Given the description of an element on the screen output the (x, y) to click on. 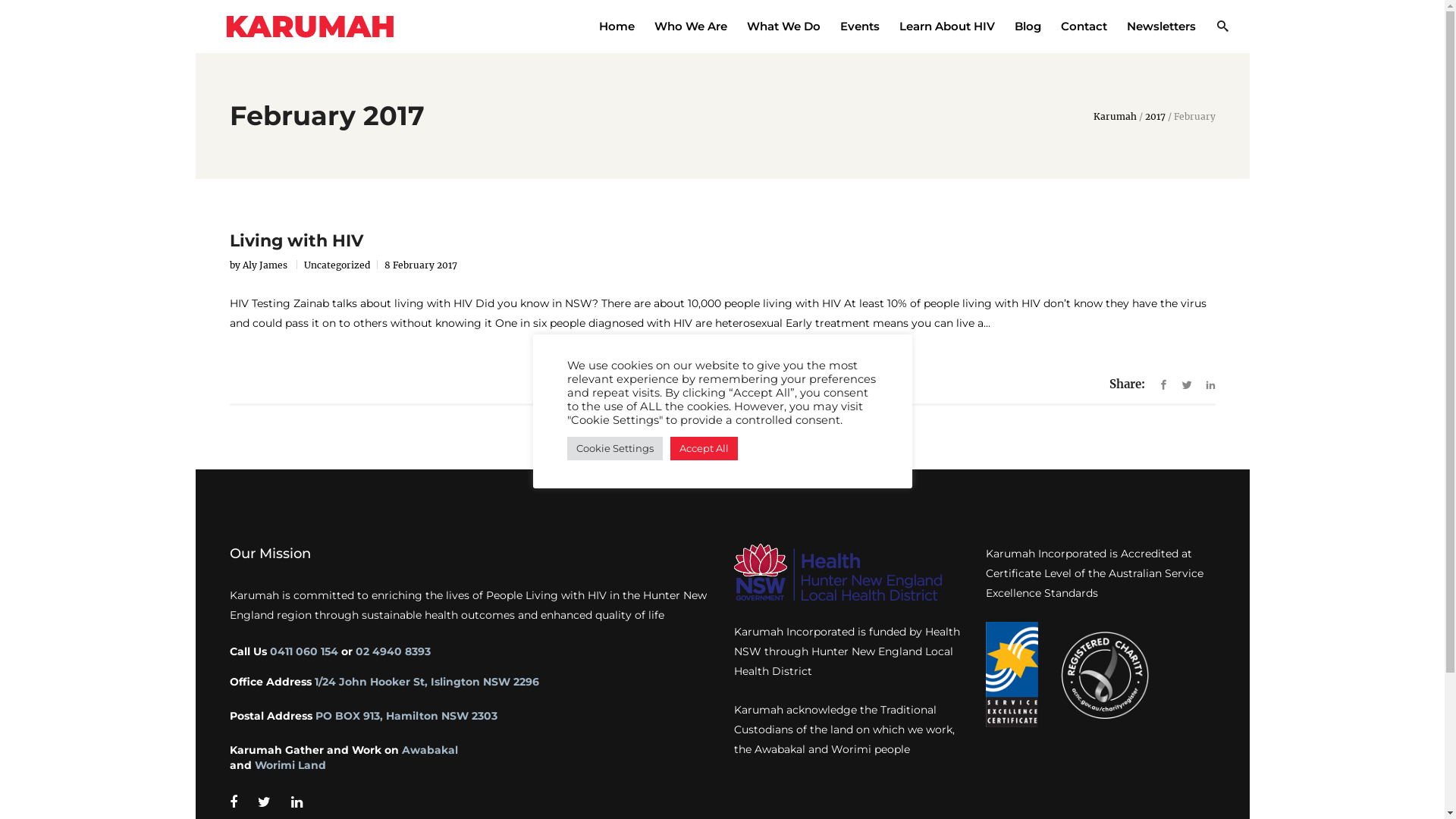
2017 Element type: text (1155, 116)
Learn About HIV Element type: text (946, 26)
Living with HIV Element type: text (295, 240)
Events Element type: text (858, 26)
Karumah Element type: text (1114, 116)
Blog Element type: text (1027, 26)
Aly James Element type: text (265, 264)
Uncategorized Element type: text (336, 264)
Cookie Settings Element type: text (614, 448)
Contact Element type: text (1084, 26)
Accept All Element type: text (703, 448)
Newsletters Element type: text (1160, 26)
Who We Are Element type: text (690, 26)
Home Element type: text (615, 26)
What We Do Element type: text (783, 26)
